Given the description of an element on the screen output the (x, y) to click on. 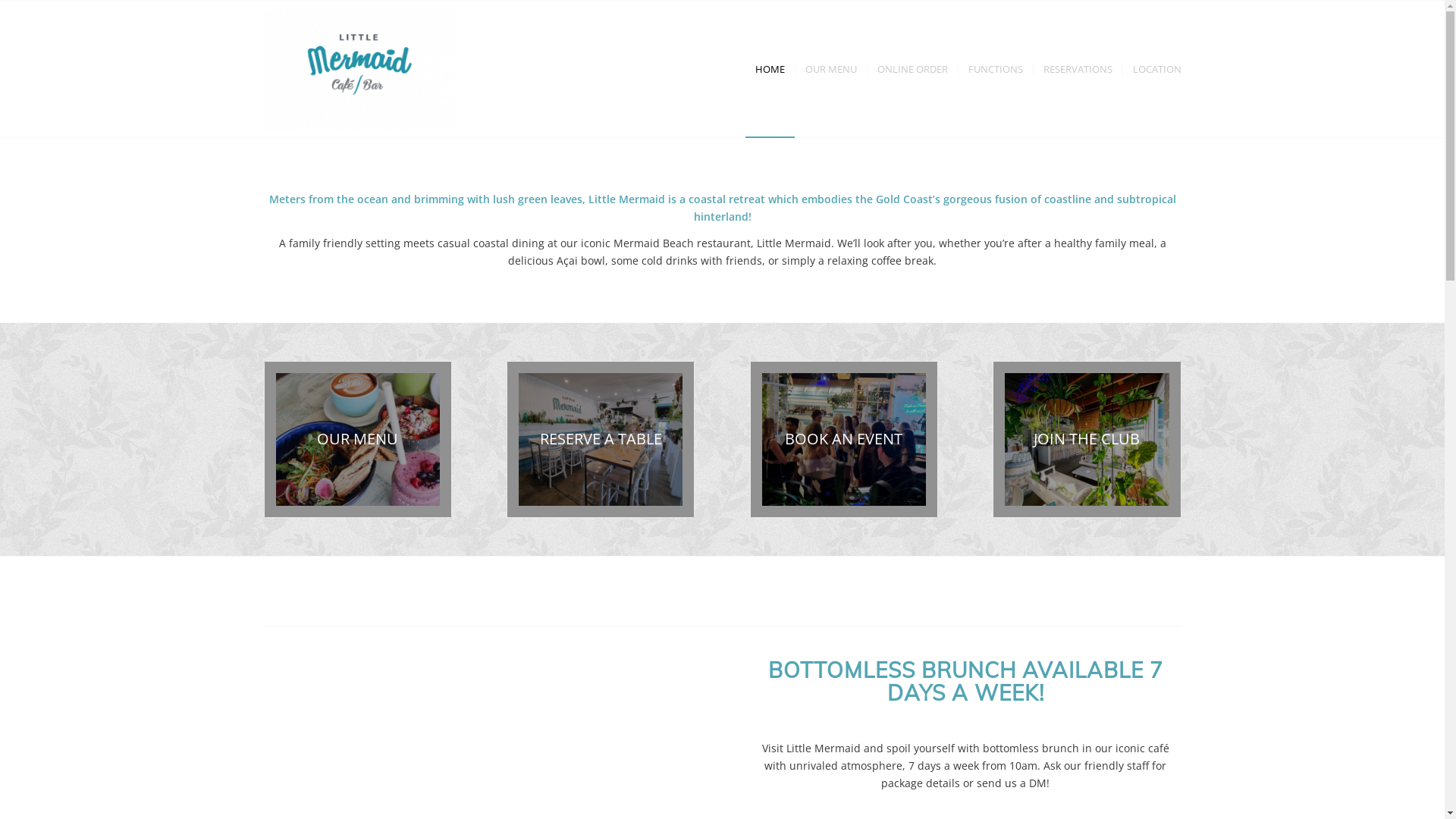
OUR MENU Element type: text (356, 439)
RESERVE A TABLE Element type: text (600, 439)
OUR MENU Element type: text (830, 68)
20220416_210029x Element type: hover (843, 439)
IMG_0433 Element type: hover (356, 439)
RESERVATIONS Element type: text (1077, 68)
LOCATION Element type: text (1151, 68)
HOME Element type: text (768, 68)
ONLINE ORDER Element type: text (911, 68)
FUNCTIONS Element type: text (994, 68)
JOIN THE CLUB Element type: text (1086, 439)
20210925_121232 Element type: hover (600, 439)
BOOK AN EVENT Element type: text (843, 439)
DSC_1228ad Element type: hover (1086, 439)
